Given the description of an element on the screen output the (x, y) to click on. 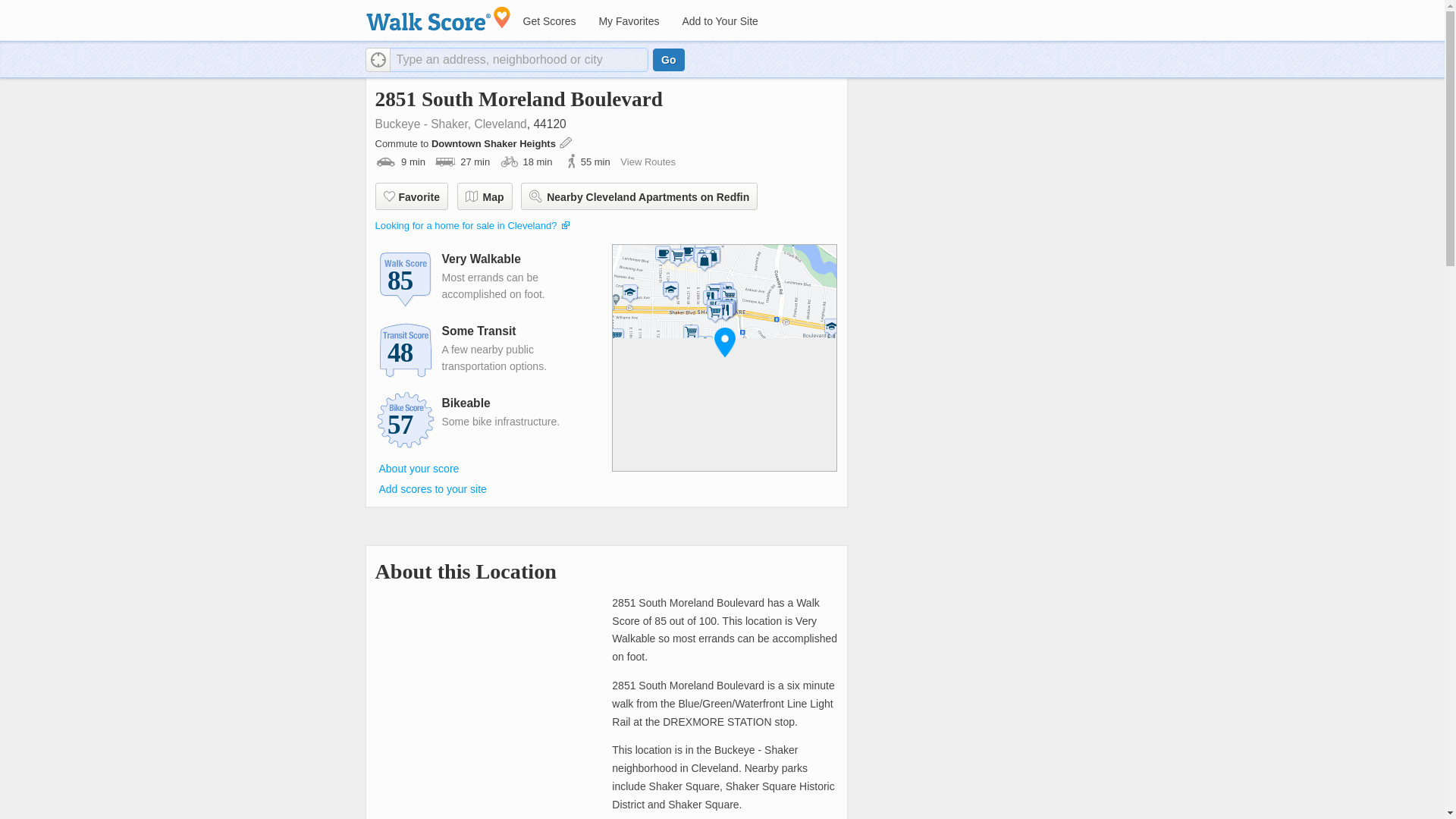
Looking for a home for sale in Cleveland? (465, 225)
Go (668, 59)
Cleveland (499, 123)
View Routes (647, 161)
My Favorites (628, 21)
Buckeye - Shaker, (422, 123)
Favorite (410, 195)
Get Scores (548, 21)
Nearby Cleveland Apartments on Redfin (639, 195)
Downtown Shaker Heights (494, 143)
About your score (419, 468)
Add scores to your site (432, 489)
Add to Your Site (719, 21)
Map (484, 195)
